Given the description of an element on the screen output the (x, y) to click on. 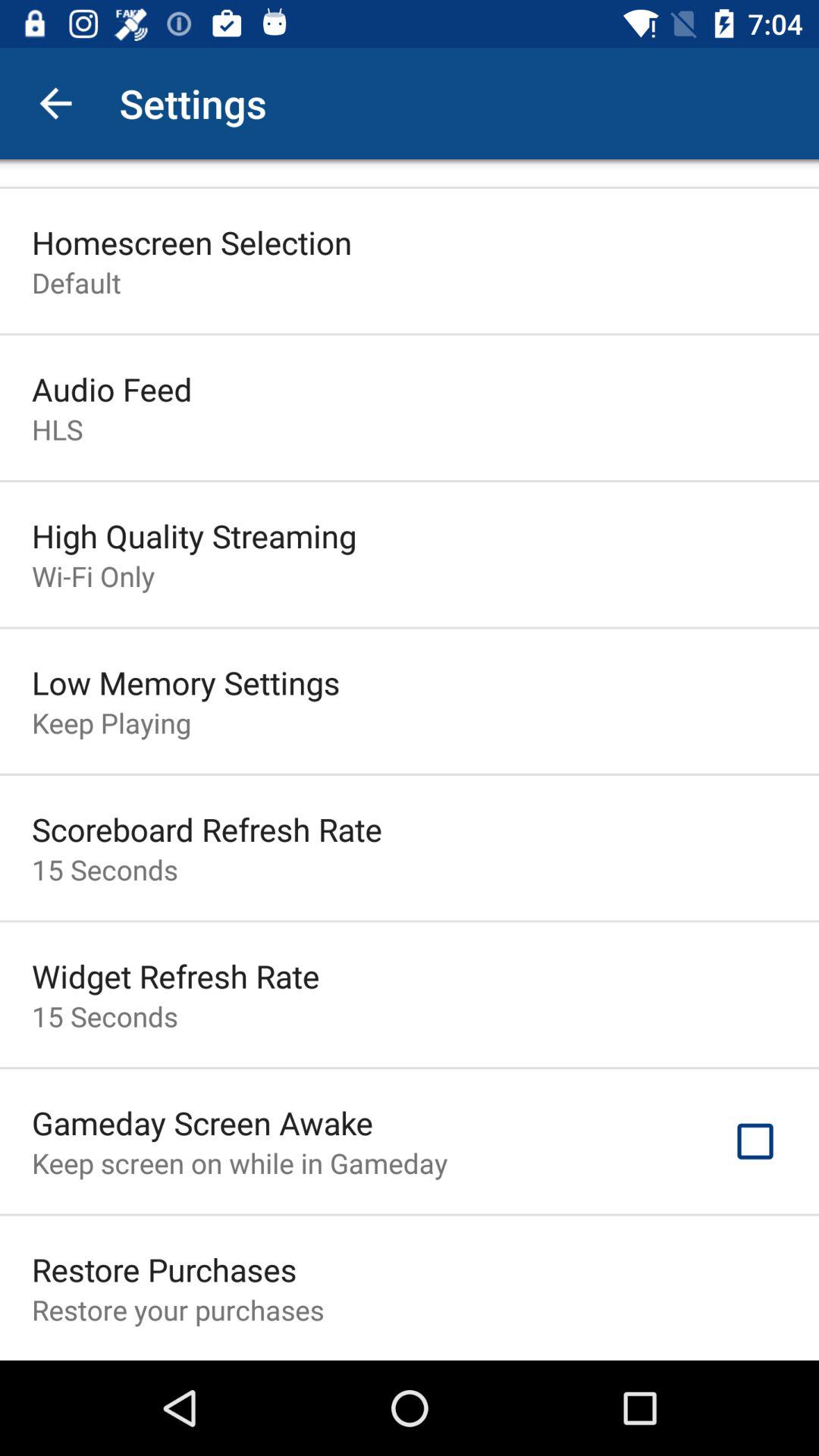
choose the item next to the settings (55, 103)
